Given the description of an element on the screen output the (x, y) to click on. 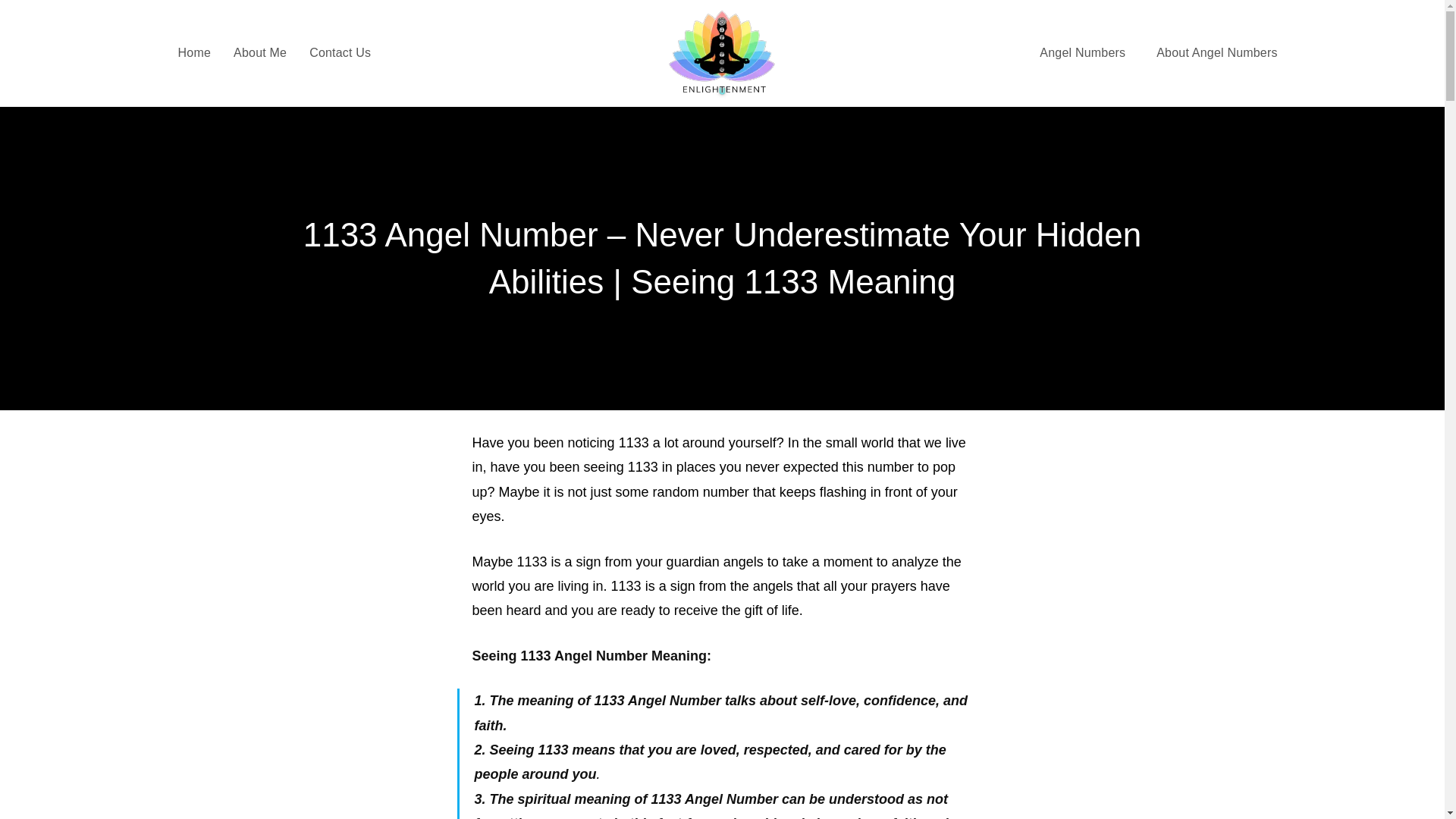
Contact Us (339, 52)
Angel Numbers (1085, 52)
About Angel Numbers (1216, 52)
About Me (260, 52)
